Given the description of an element on the screen output the (x, y) to click on. 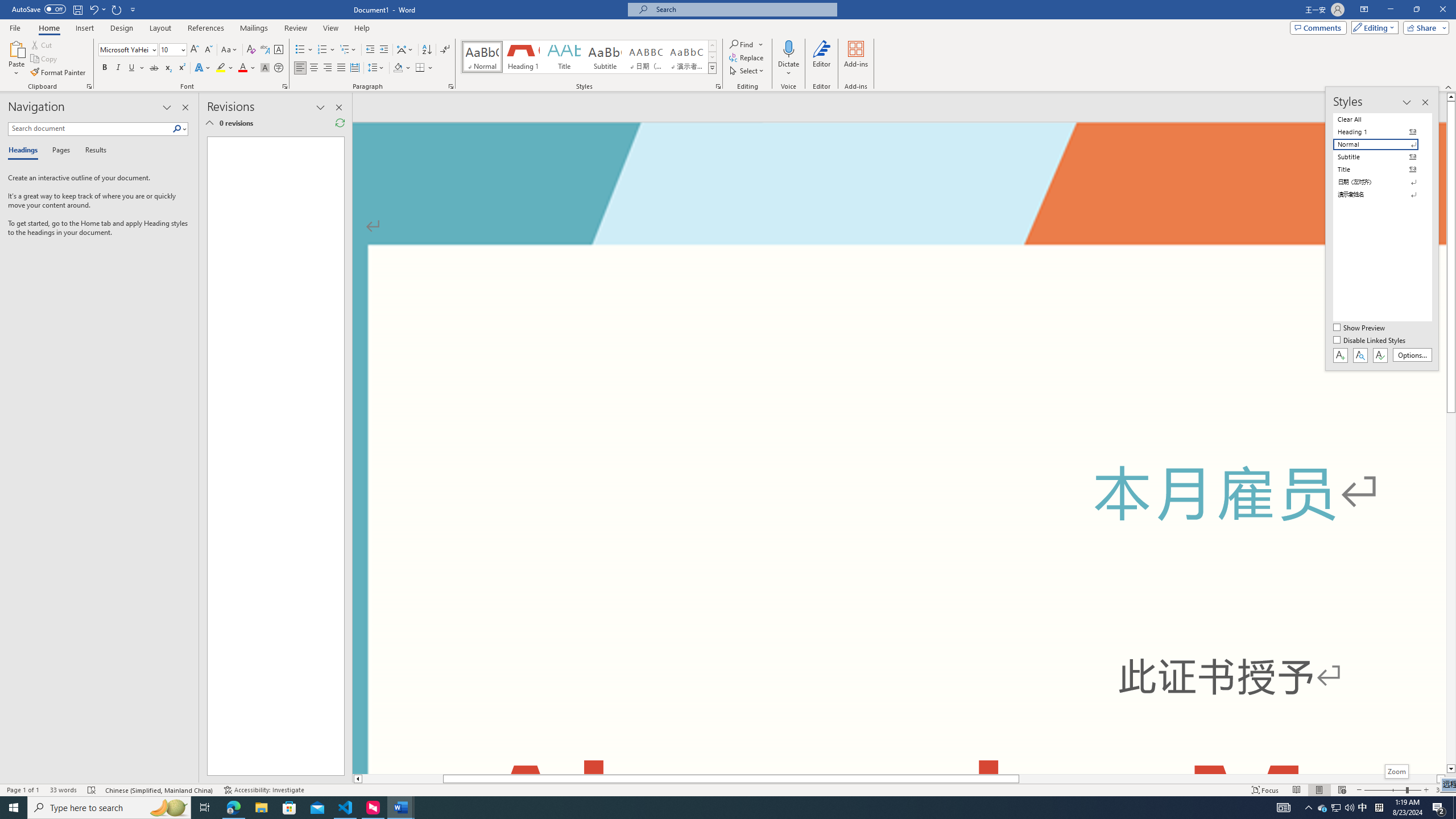
Header -Section 1- (898, 163)
Language Chinese (Simplified, Mainland China) (159, 790)
Show Detailed Summary (209, 122)
